Given the description of an element on the screen output the (x, y) to click on. 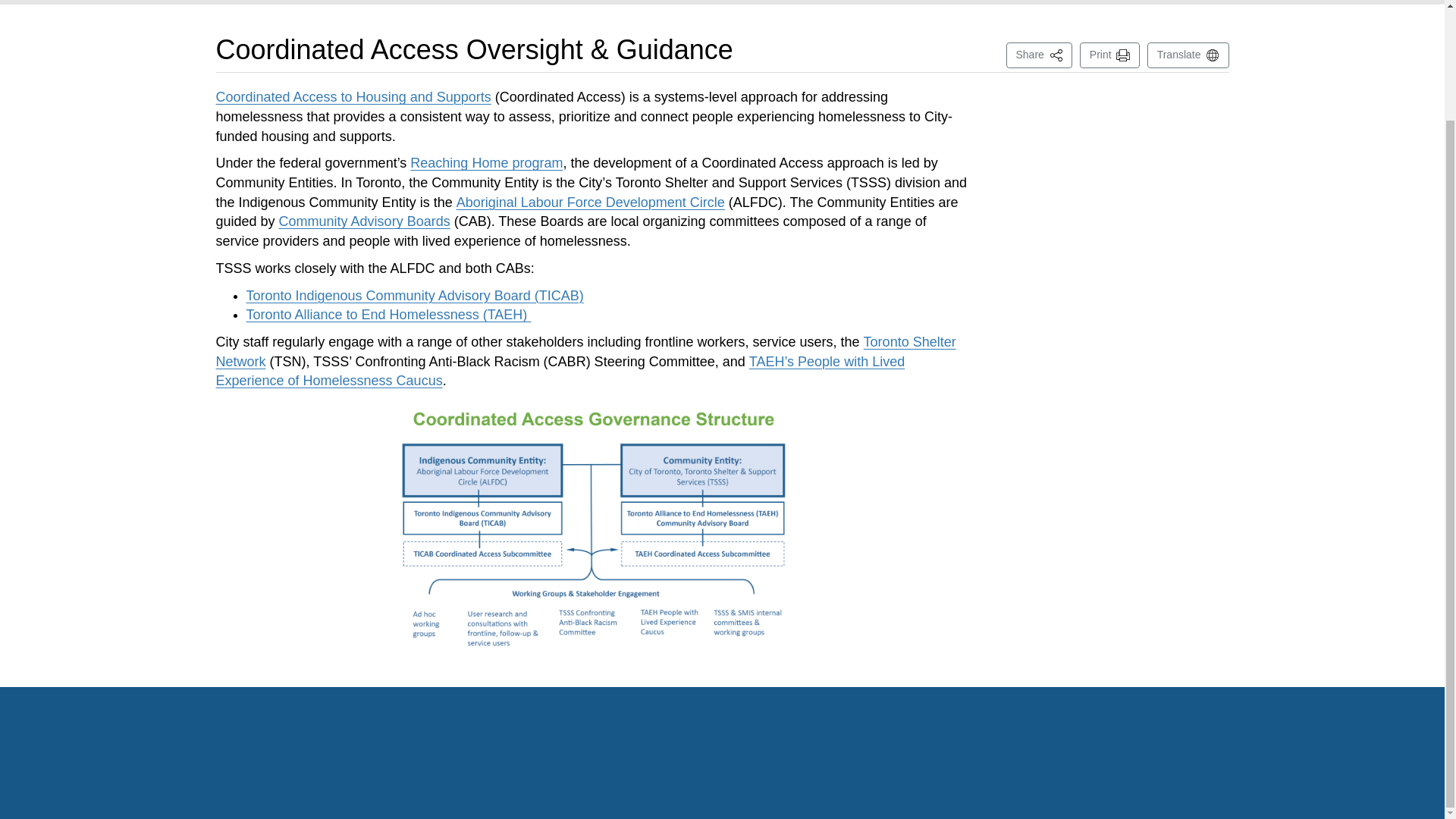
Reaching Home program (486, 162)
Print (1110, 54)
Toronto Shelter Network (585, 351)
Community Advisory Boards (364, 221)
Coordinated Access to Housing and Supports (352, 96)
Aboriginal Labour Force Development Circle (591, 201)
Translate (1038, 54)
